Given the description of an element on the screen output the (x, y) to click on. 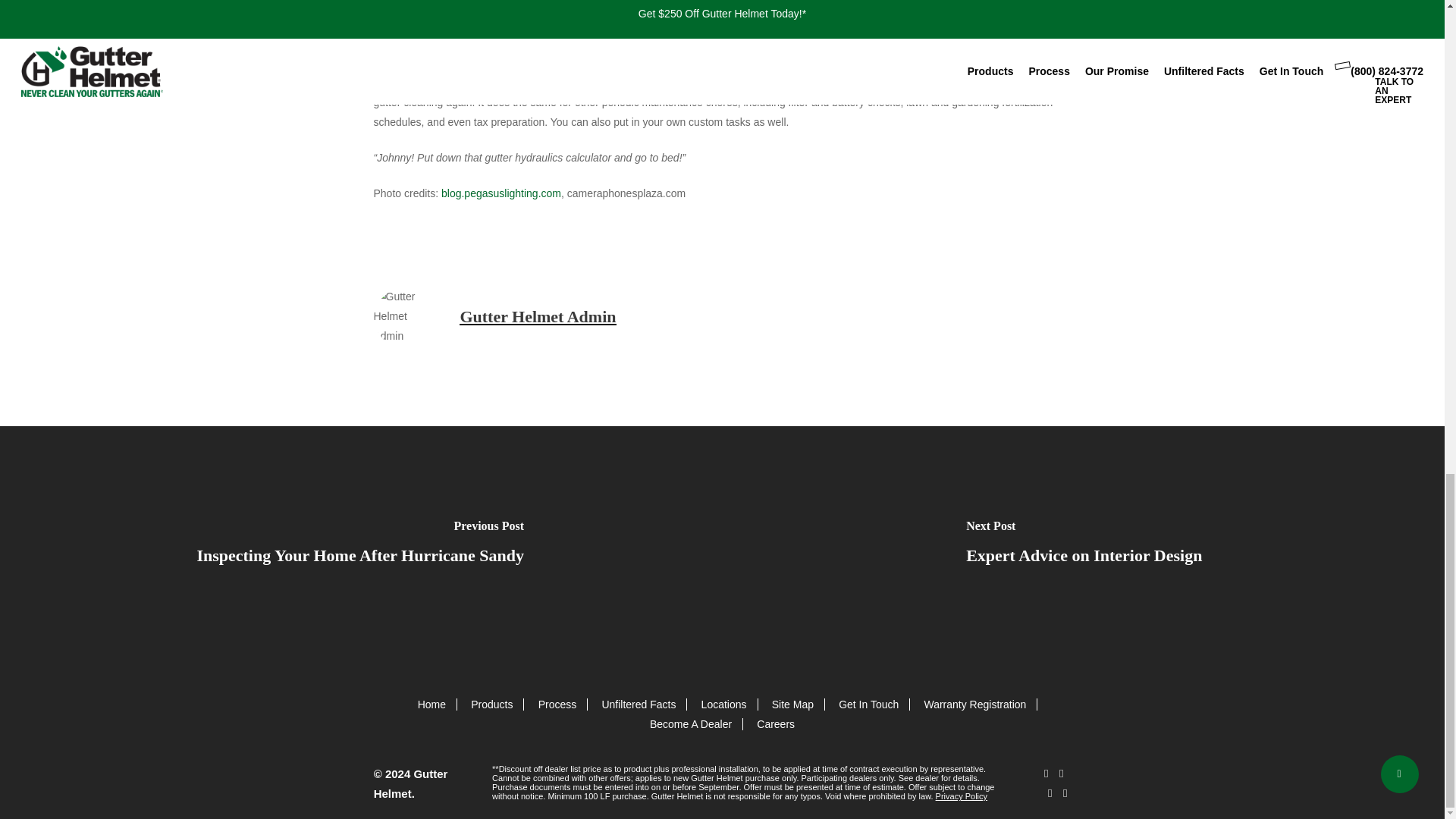
Products (491, 704)
Process (557, 704)
Gutter Helmet Admin (537, 316)
blog.pegasuslighting.com (500, 193)
Homeowner Calendar (433, 46)
Unfiltered Facts (638, 704)
Home (431, 704)
